Given the description of an element on the screen output the (x, y) to click on. 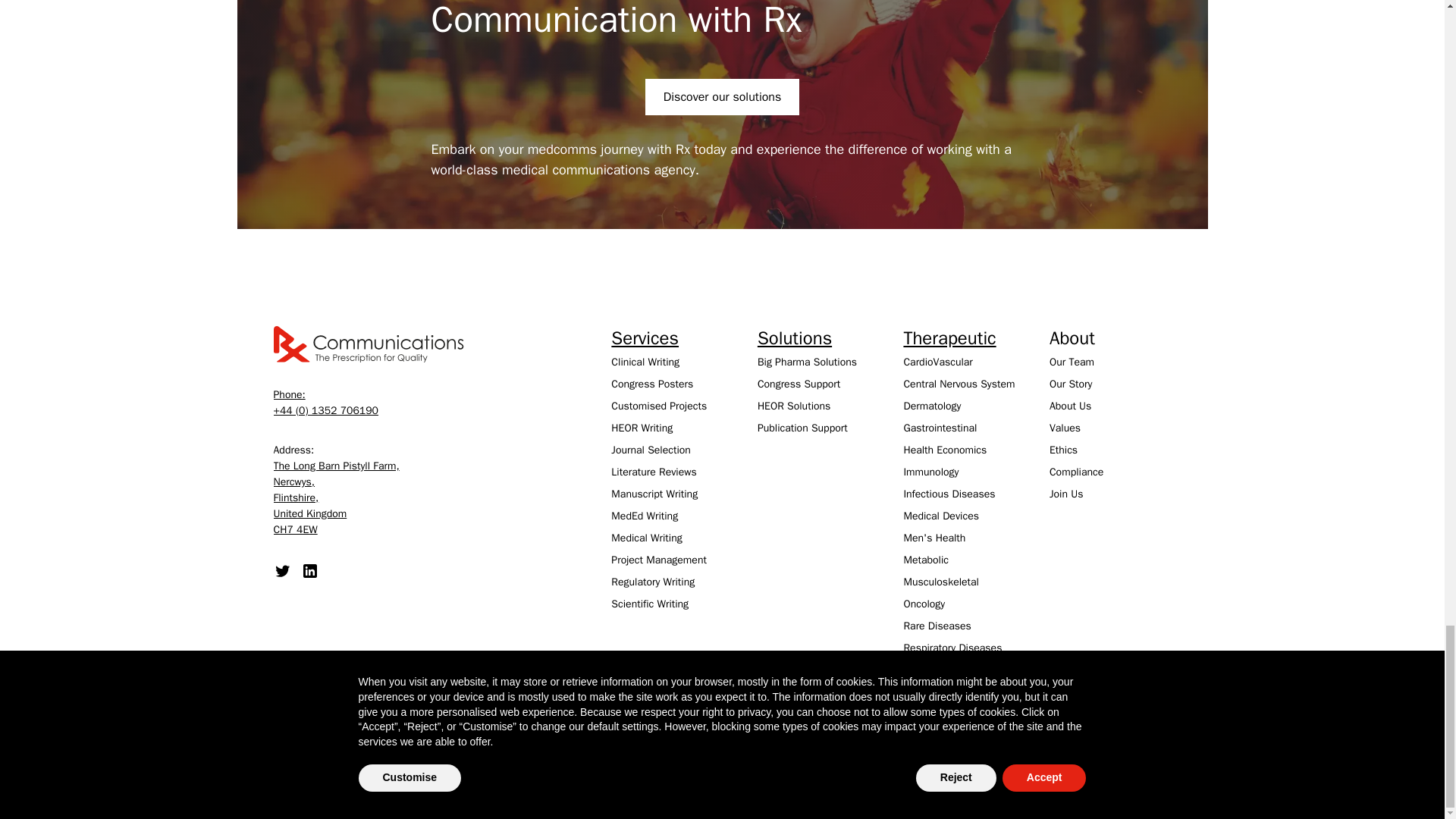
Privacy Policy  (1061, 749)
Cookie Policy  (1140, 749)
